Given the description of an element on the screen output the (x, y) to click on. 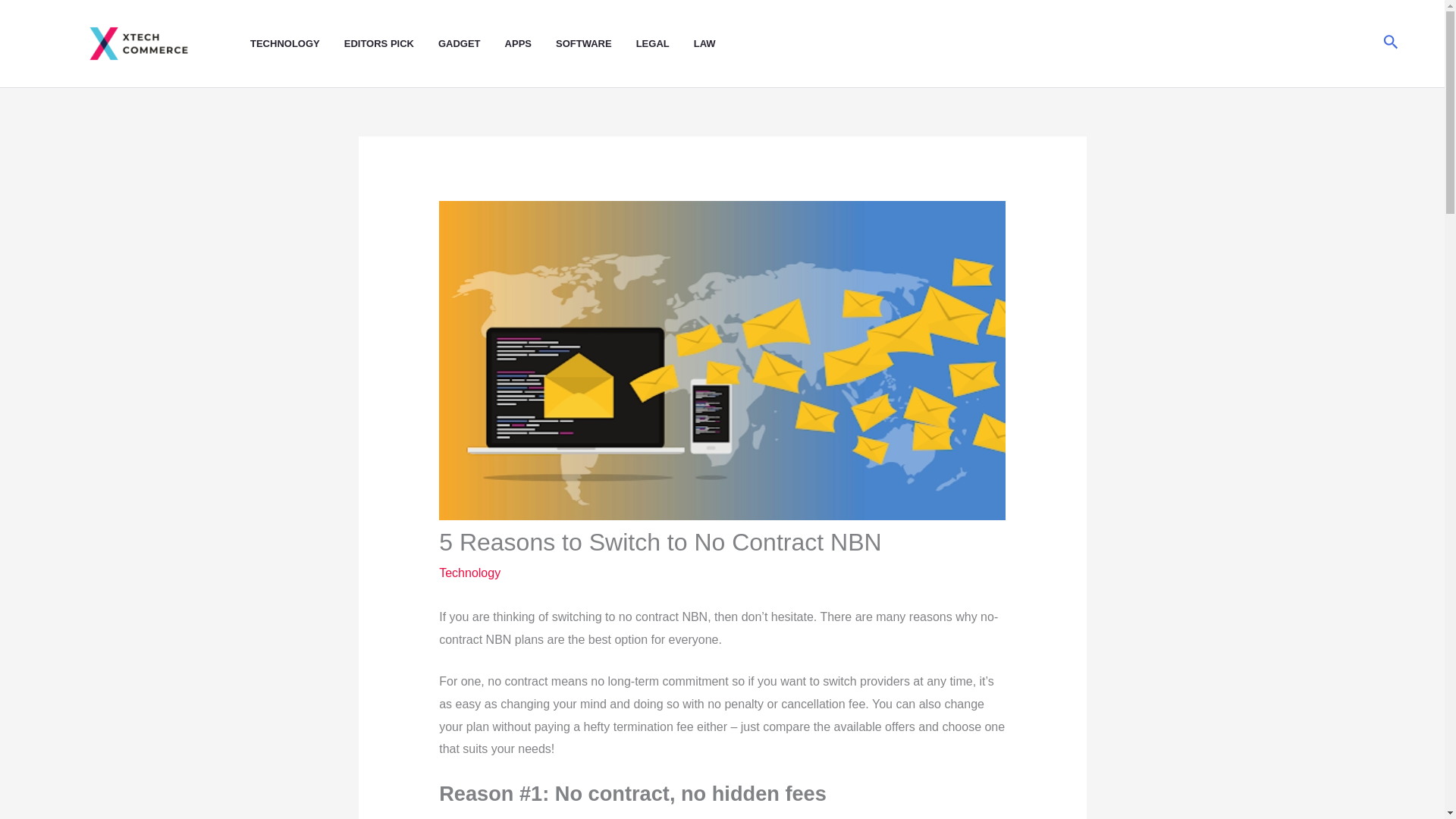
LEGAL (665, 43)
Search (1391, 43)
GADGET (471, 43)
LAW (716, 43)
Technology (469, 572)
EDITORS PICK (390, 43)
SOFTWARE (596, 43)
TECHNOLOGY (296, 43)
APPS (530, 43)
